Given the description of an element on the screen output the (x, y) to click on. 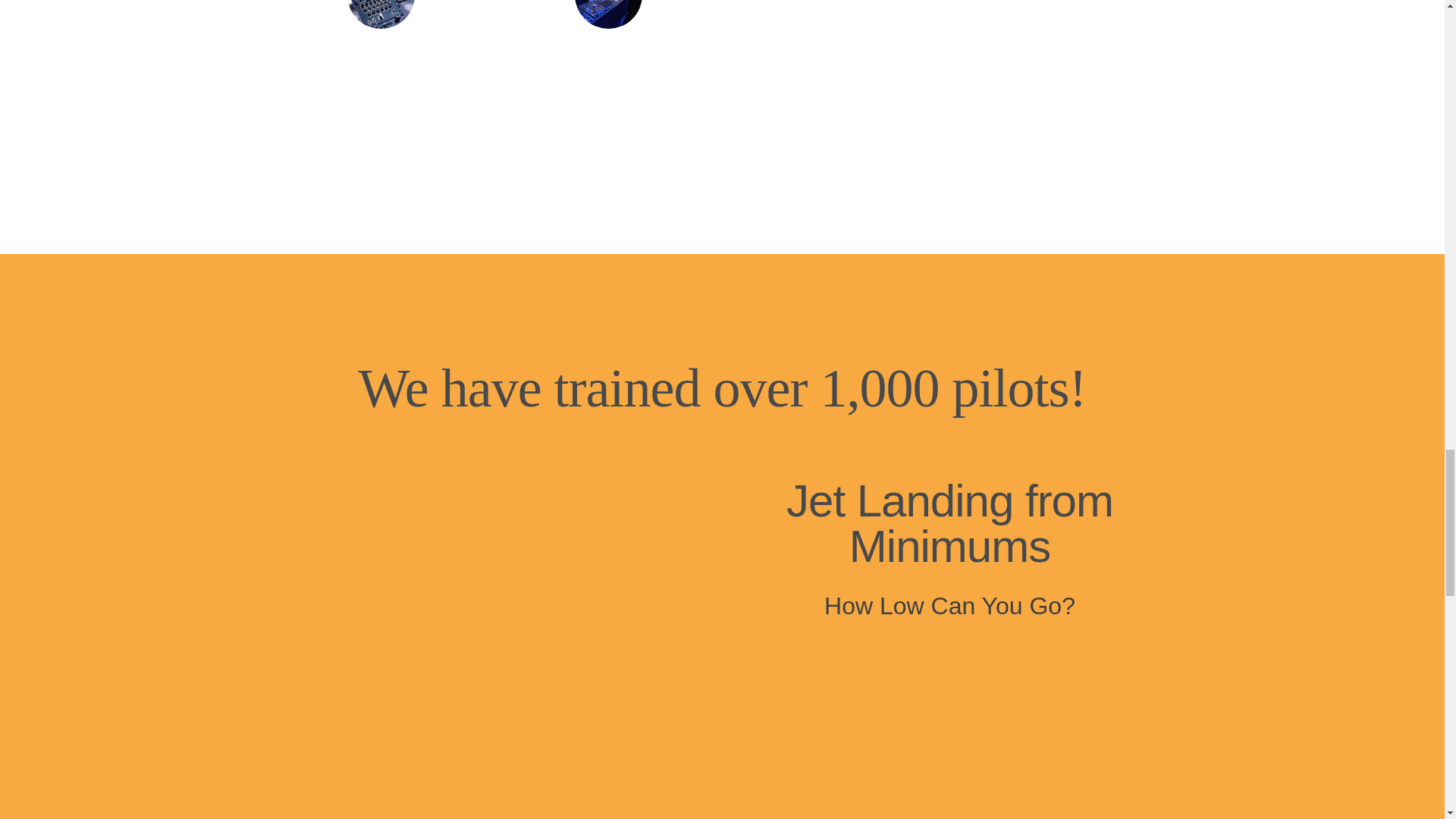
BUY NOW (608, 107)
BUY NOW (1062, 55)
BUY NOW (380, 107)
BUY NOW (835, 55)
